Given the description of an element on the screen output the (x, y) to click on. 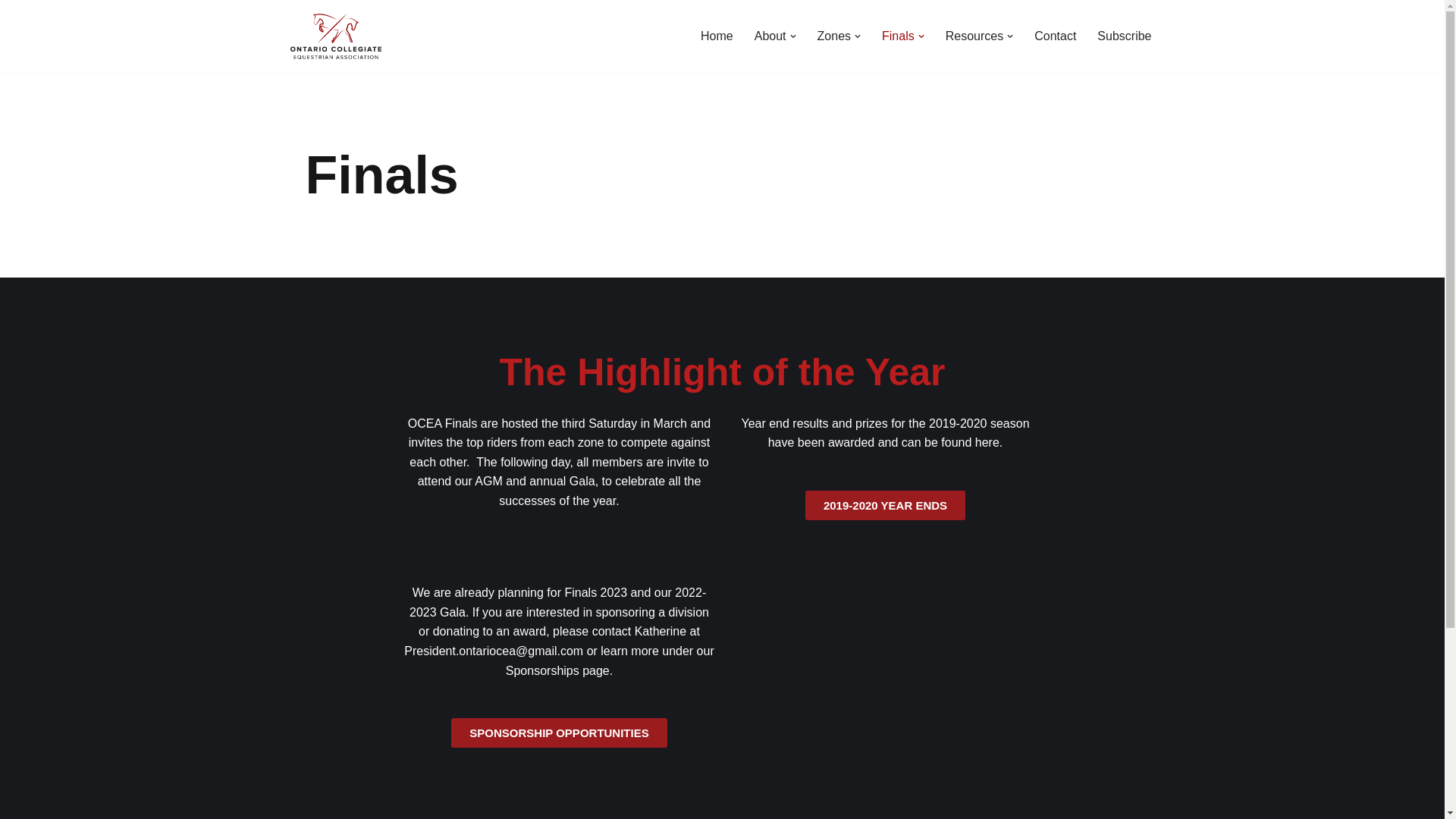
Skip to content (11, 31)
Subscribe (1124, 35)
About (770, 35)
Zones (833, 35)
Home (716, 35)
Resources (973, 35)
Finals (898, 35)
Contact (1054, 35)
